Given the description of an element on the screen output the (x, y) to click on. 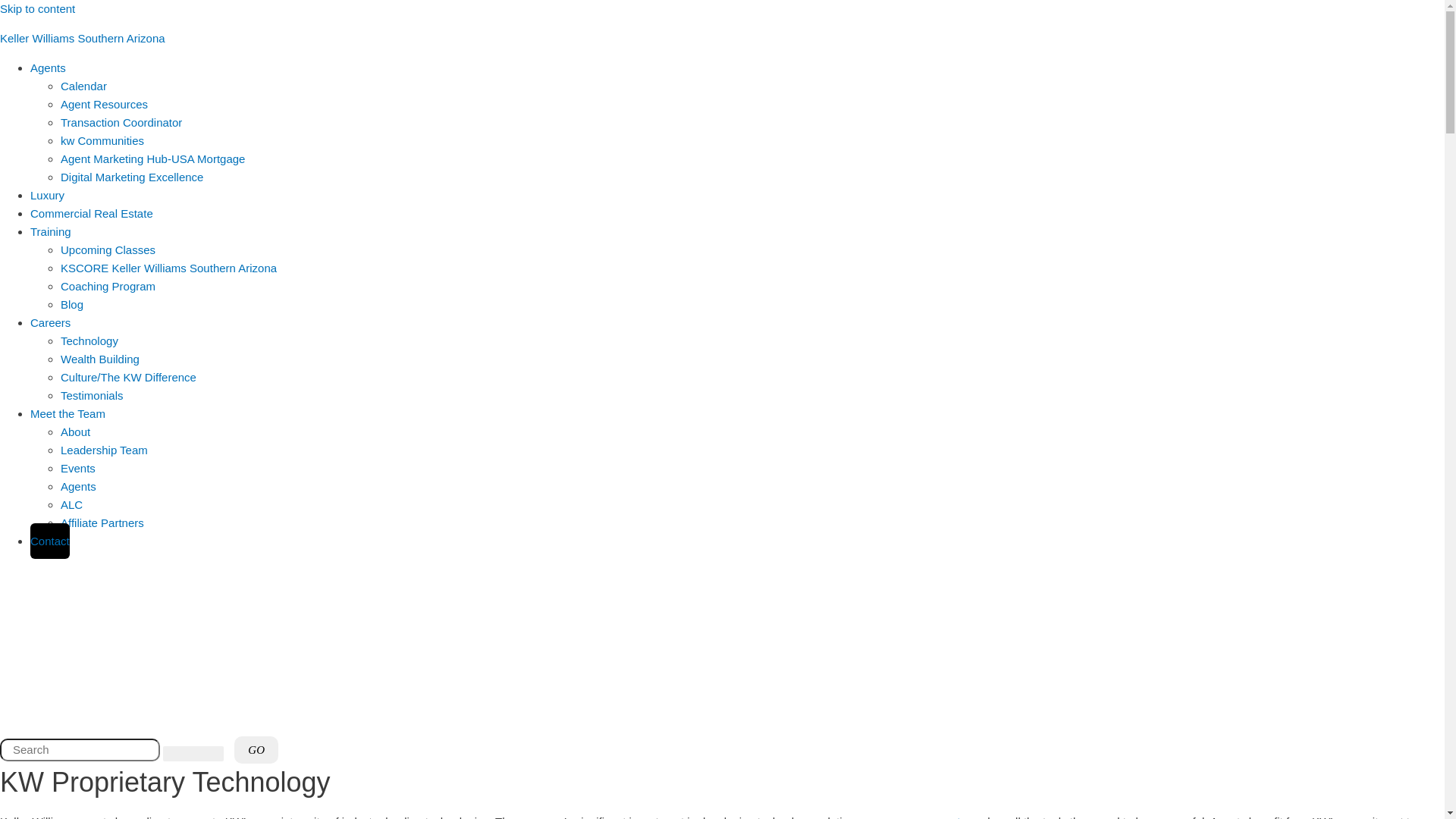
About Element type: text (75, 431)
Contact Element type: text (49, 540)
Blog Element type: text (71, 304)
Coaching Program Element type: text (107, 285)
Testimonials Element type: text (91, 395)
Leadership Team Element type: text (103, 449)
Technology Element type: text (89, 340)
Wealth Building Element type: text (99, 358)
Agent Resources Element type: text (103, 103)
Meet the Team Element type: text (67, 413)
Affiliate Partners Element type: text (102, 522)
Keller Williams Southern Arizona Element type: text (82, 37)
Search Element type: hover (80, 749)
Skip to content Element type: text (37, 8)
Events Element type: text (77, 467)
KSCORE Keller Williams Southern Arizona Element type: text (168, 267)
Upcoming Classes Element type: text (107, 249)
Training Element type: text (50, 231)
Digital Marketing Excellence Element type: text (131, 176)
Careers Element type: text (50, 312)
kw Communities Element type: text (102, 140)
Commercial Real Estate Element type: text (91, 213)
Culture/The KW Difference Element type: text (128, 376)
Transaction Coordinator Element type: text (121, 122)
Agent Marketing Hub-USA Mortgage Element type: text (152, 158)
Luxury Element type: text (47, 194)
Agents Element type: text (78, 486)
Calendar Element type: text (83, 85)
Agents Element type: text (47, 67)
ALC Element type: text (71, 504)
